Given the description of an element on the screen output the (x, y) to click on. 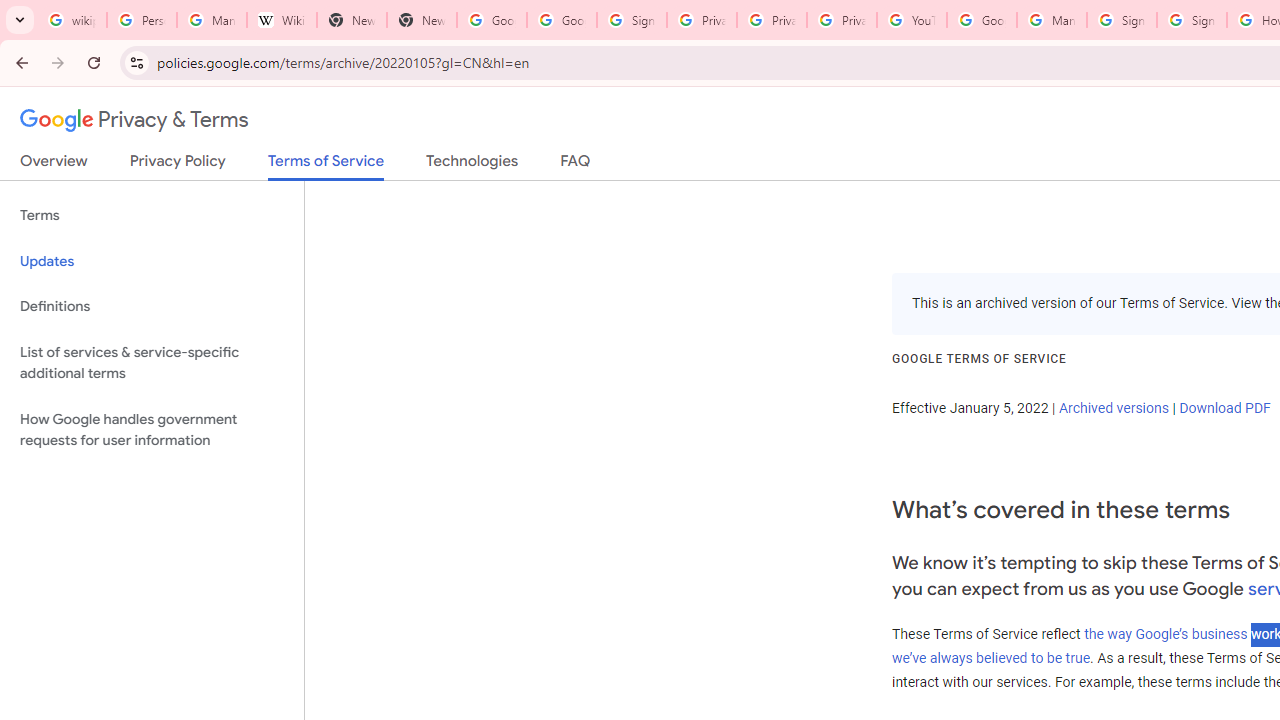
Sign in - Google Accounts (1121, 20)
Google Drive: Sign-in (561, 20)
New Tab (351, 20)
How Google handles government requests for user information (152, 429)
Manage your Location History - Google Search Help (211, 20)
Sign in - Google Accounts (631, 20)
Sign in - Google Accounts (1192, 20)
Download PDF (1224, 407)
List of services & service-specific additional terms (152, 362)
